Given the description of an element on the screen output the (x, y) to click on. 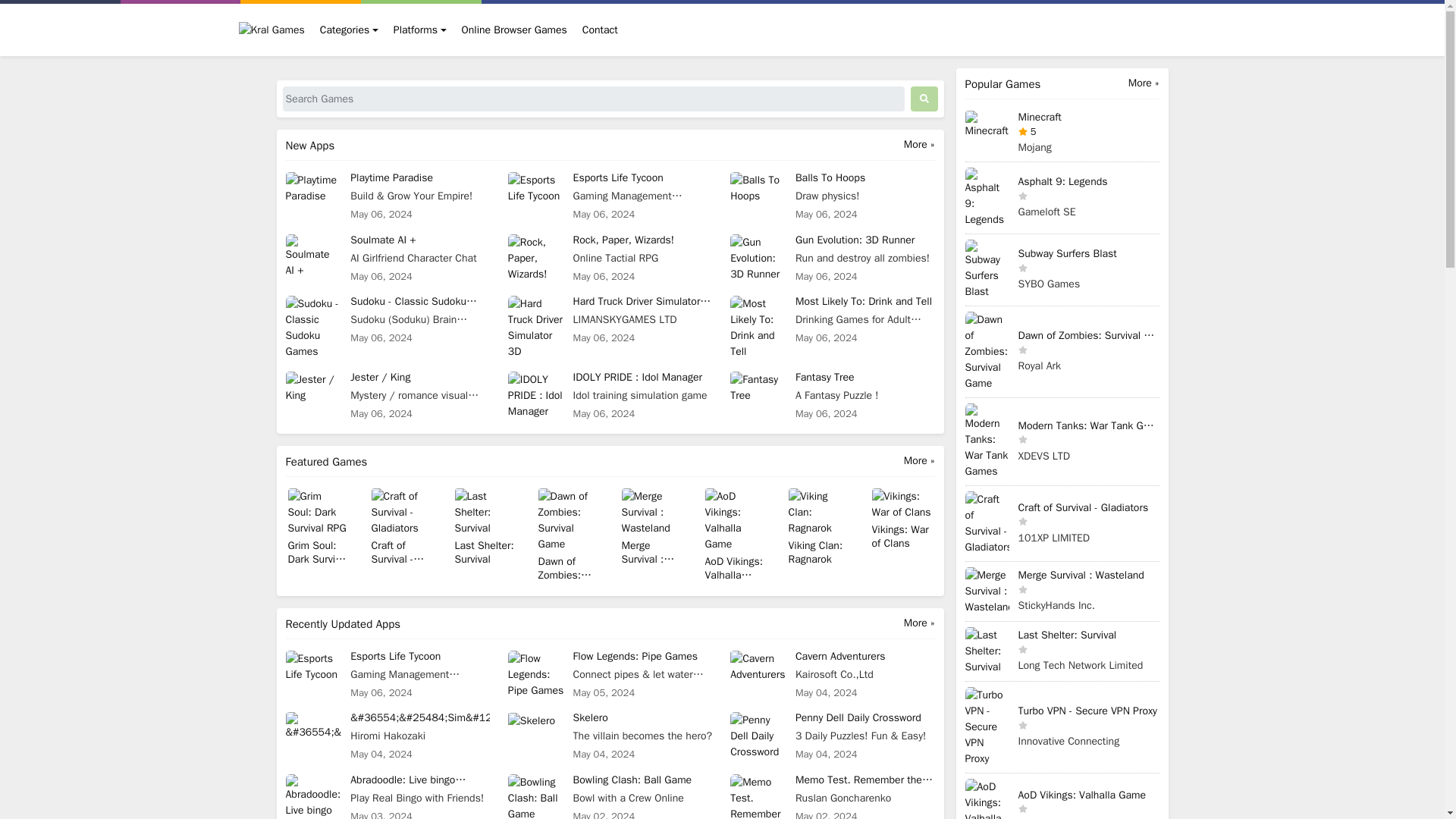
Contact (600, 29)
Platforms (609, 258)
Categories (609, 196)
Online Browser Games (419, 29)
